Given the description of an element on the screen output the (x, y) to click on. 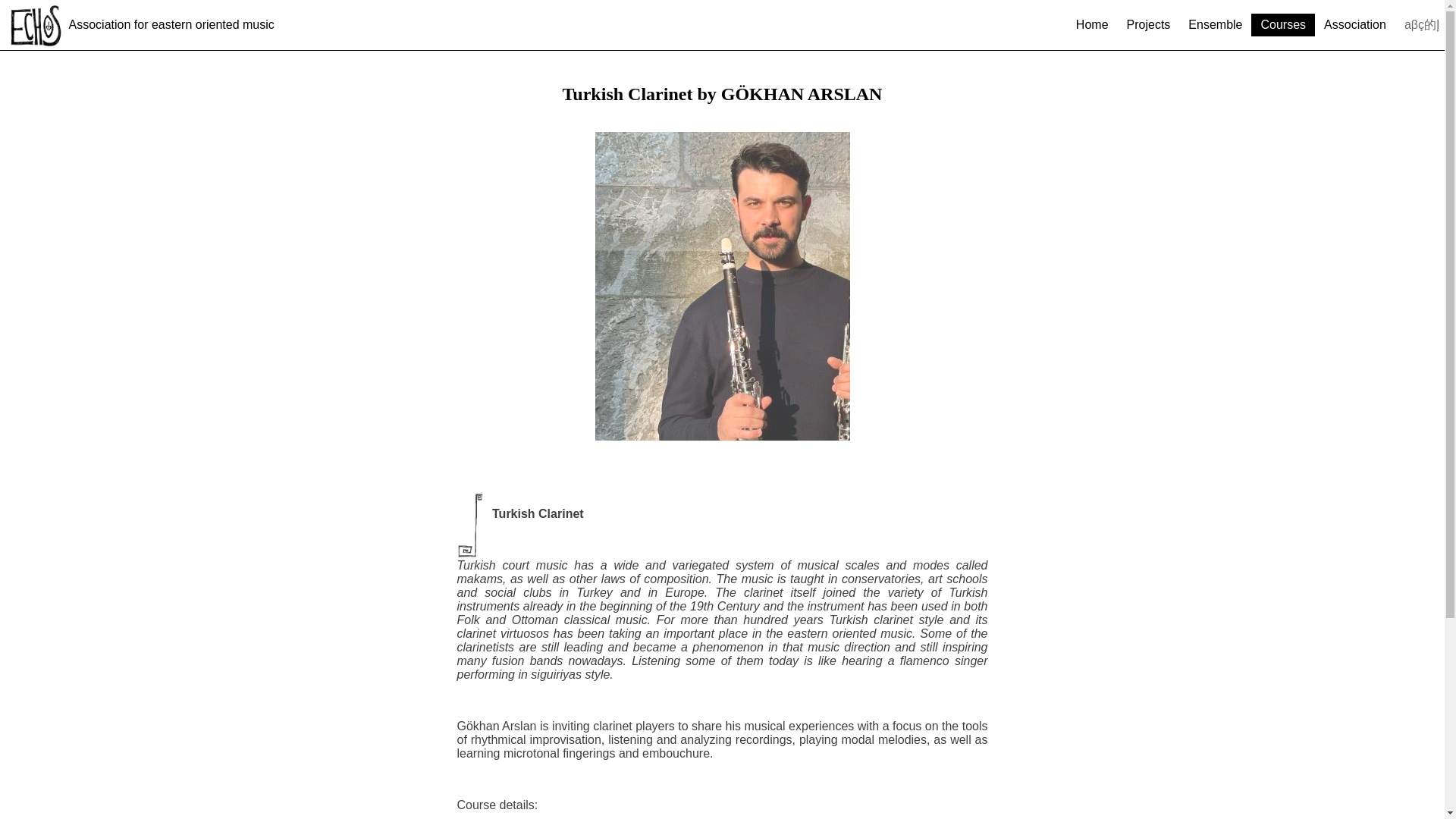
Ensemble (1214, 24)
Home (1091, 24)
Courses (1283, 24)
Association for eastern oriented music (141, 24)
Association (1354, 24)
Projects (1148, 24)
